Given the description of an element on the screen output the (x, y) to click on. 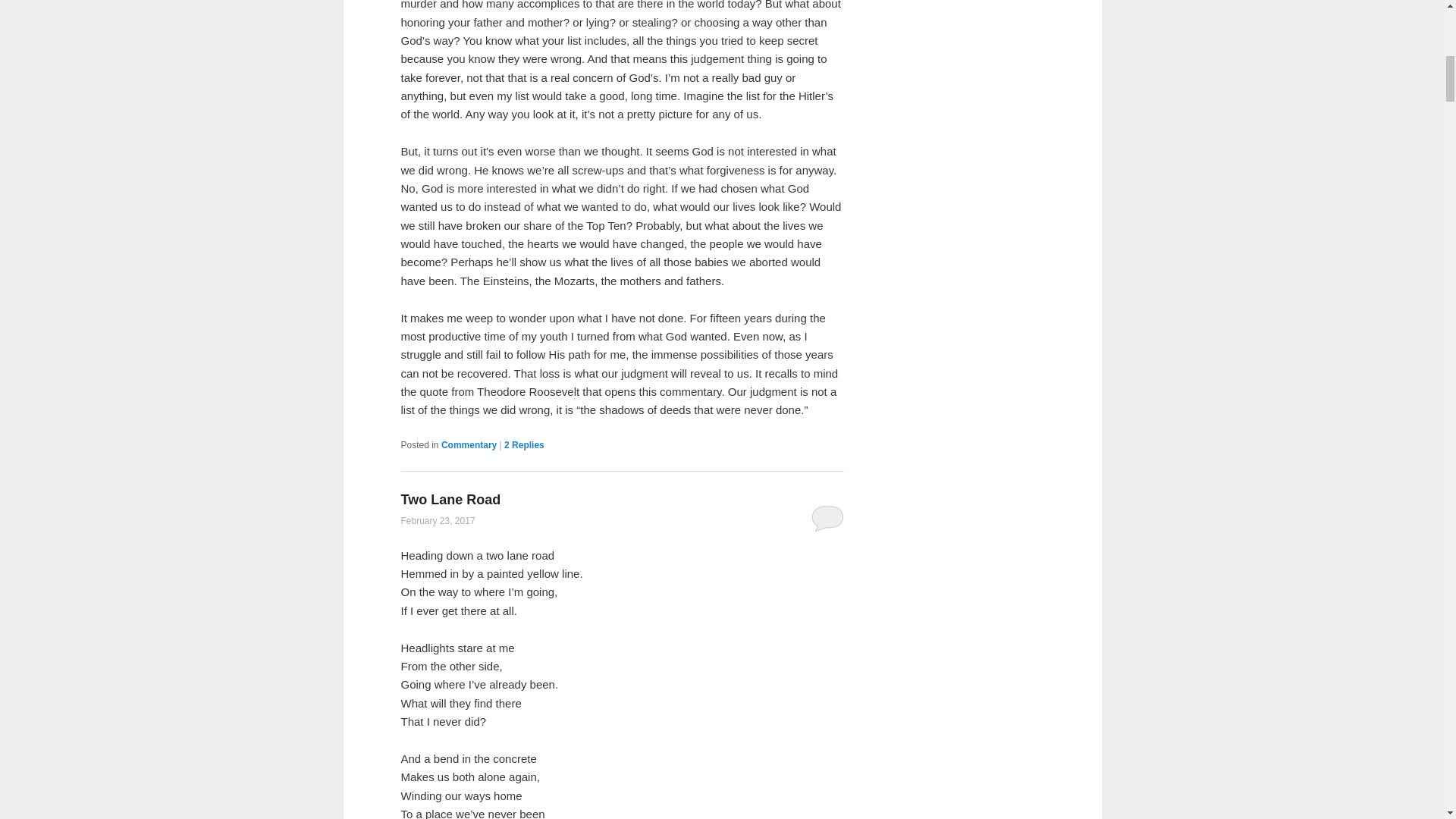
Commentary (468, 444)
Two Lane Road (450, 499)
7:58 am (437, 520)
February 23, 2017 (437, 520)
2 Replies (523, 444)
